Given the description of an element on the screen output the (x, y) to click on. 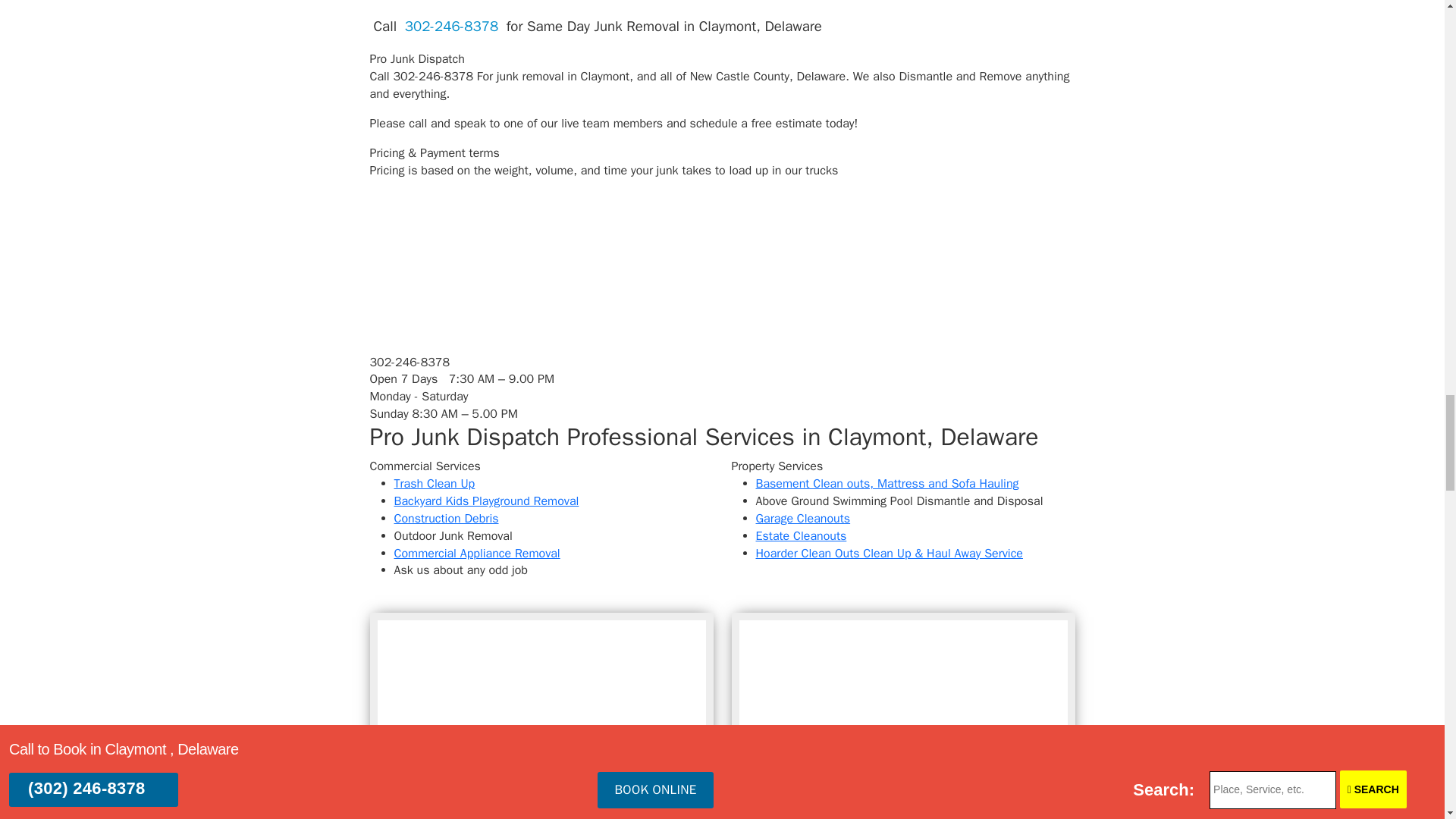
Trash Clean Up (435, 483)
Different payment methods supported by Pro Junk Dispatch (482, 232)
Estate Cleanouts (800, 535)
Pro Junk Dispatch logo (458, 313)
Pro Junk Dispatch trash cleanout video (902, 715)
Basement Clean outs, Mattress and Sofa Hauling (886, 483)
Construction Debris (446, 518)
Garage Cleanouts (802, 518)
Pro Junk Dispatch Garage Cleanout video (541, 715)
Backyard Kids Playground Removal (486, 500)
